Given the description of an element on the screen output the (x, y) to click on. 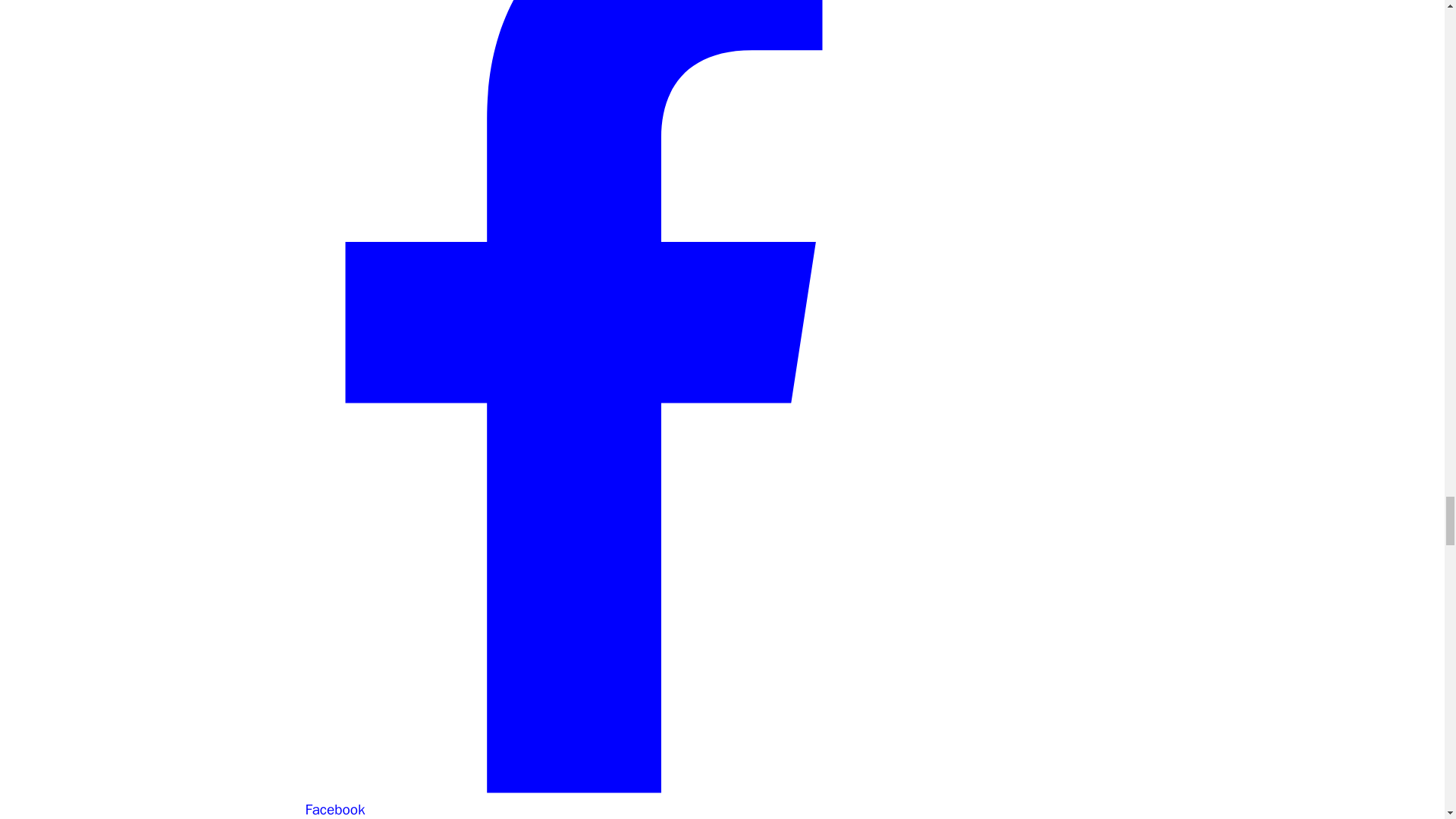
Facebook (582, 799)
